Given the description of an element on the screen output the (x, y) to click on. 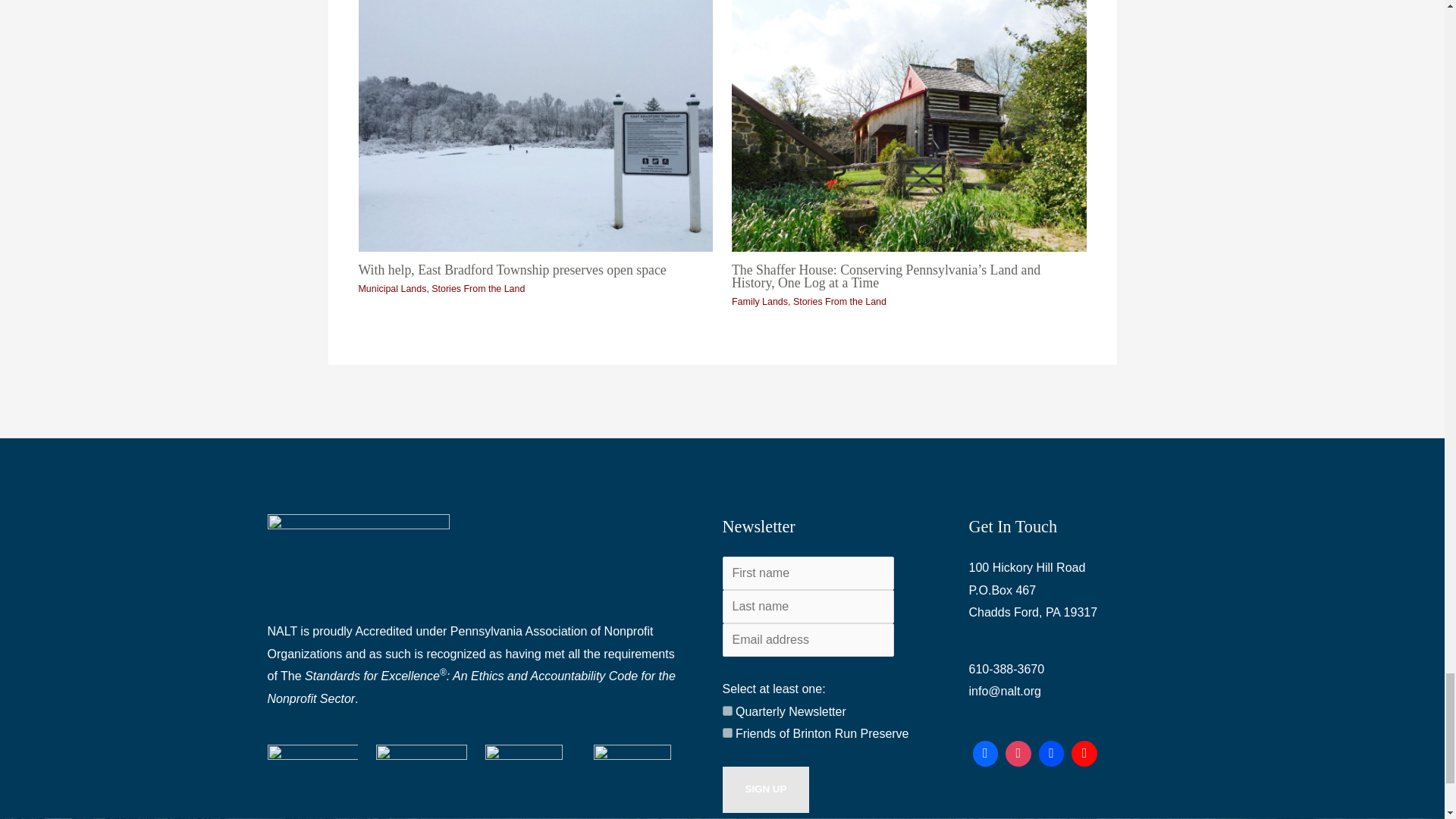
Sign up (765, 789)
93214f8a2a (727, 732)
Facebook (986, 753)
Instagram (1018, 753)
Linkedin (1051, 753)
7d4b2e76ae (727, 710)
Youtube (1083, 753)
Page 1 (1073, 590)
Page 1 (475, 664)
